Given the description of an element on the screen output the (x, y) to click on. 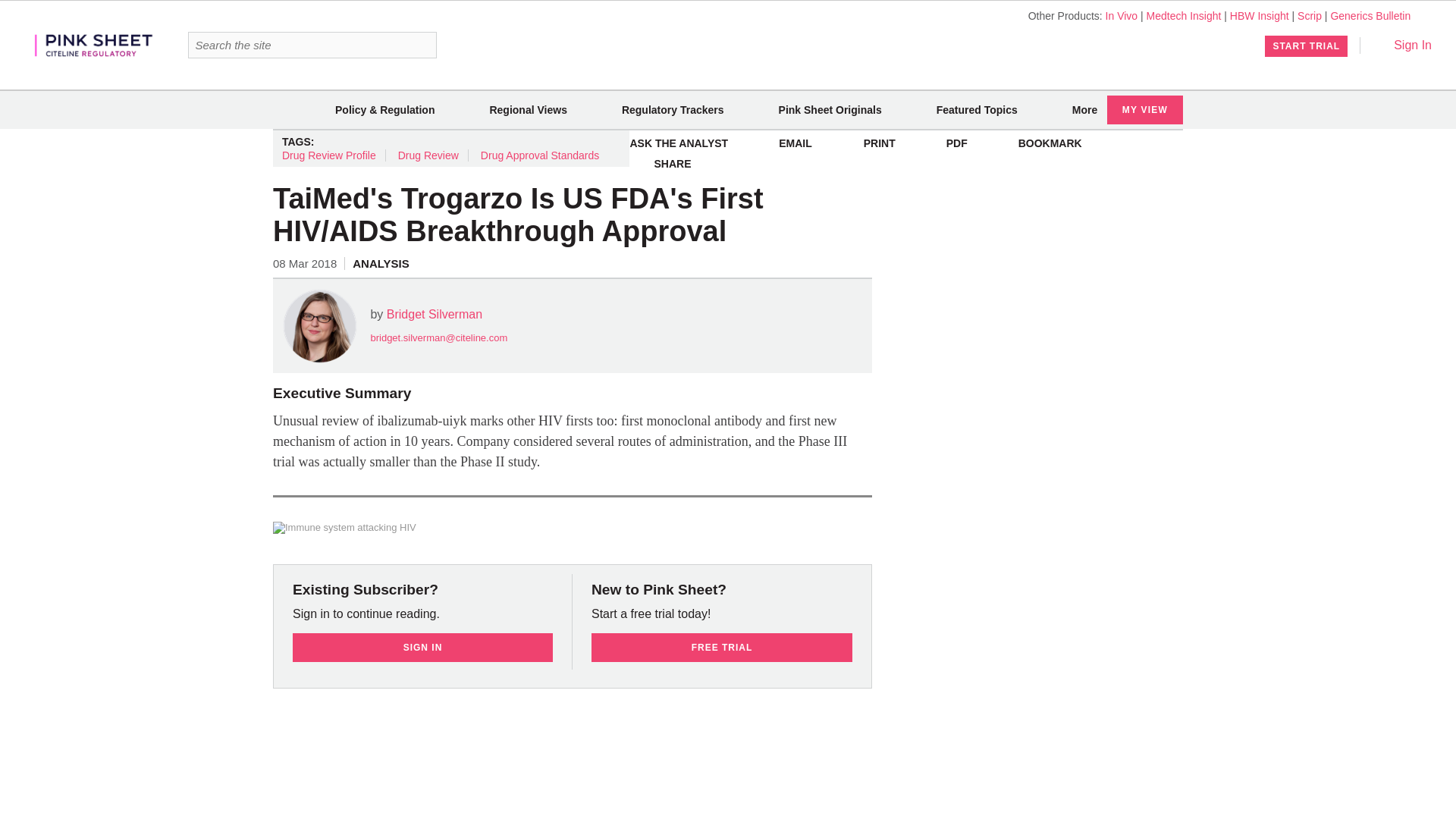
START TRIAL (1306, 46)
HBW Insight (1259, 15)
In Vivo (1121, 15)
Medtech Insight (1184, 15)
Sign In (1402, 44)
Generics Bulletin (1370, 15)
Scrip (1309, 15)
